Given the description of an element on the screen output the (x, y) to click on. 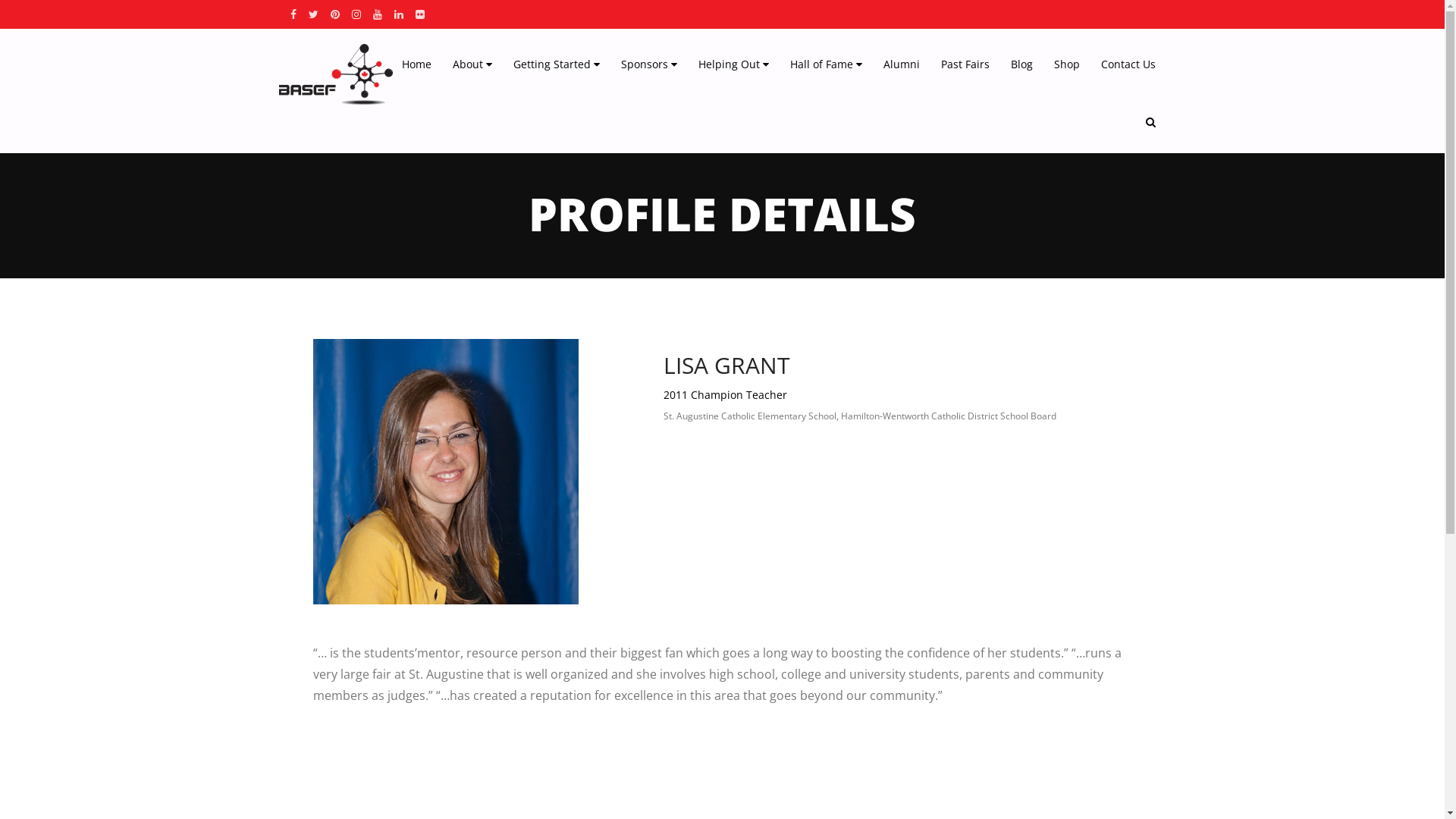
Alumni Element type: text (900, 64)
Shop Element type: text (1066, 64)
About Element type: text (471, 64)
Logo Element type: hover (335, 73)
Home Element type: text (416, 64)
Sponsors Element type: text (648, 64)
Helping Out Element type: text (732, 64)
Past Fairs Element type: text (964, 64)
Blog Element type: text (1021, 64)
Hall of Fame Element type: text (826, 64)
Contact Us Element type: text (1128, 64)
Getting Started Element type: text (555, 64)
